Given the description of an element on the screen output the (x, y) to click on. 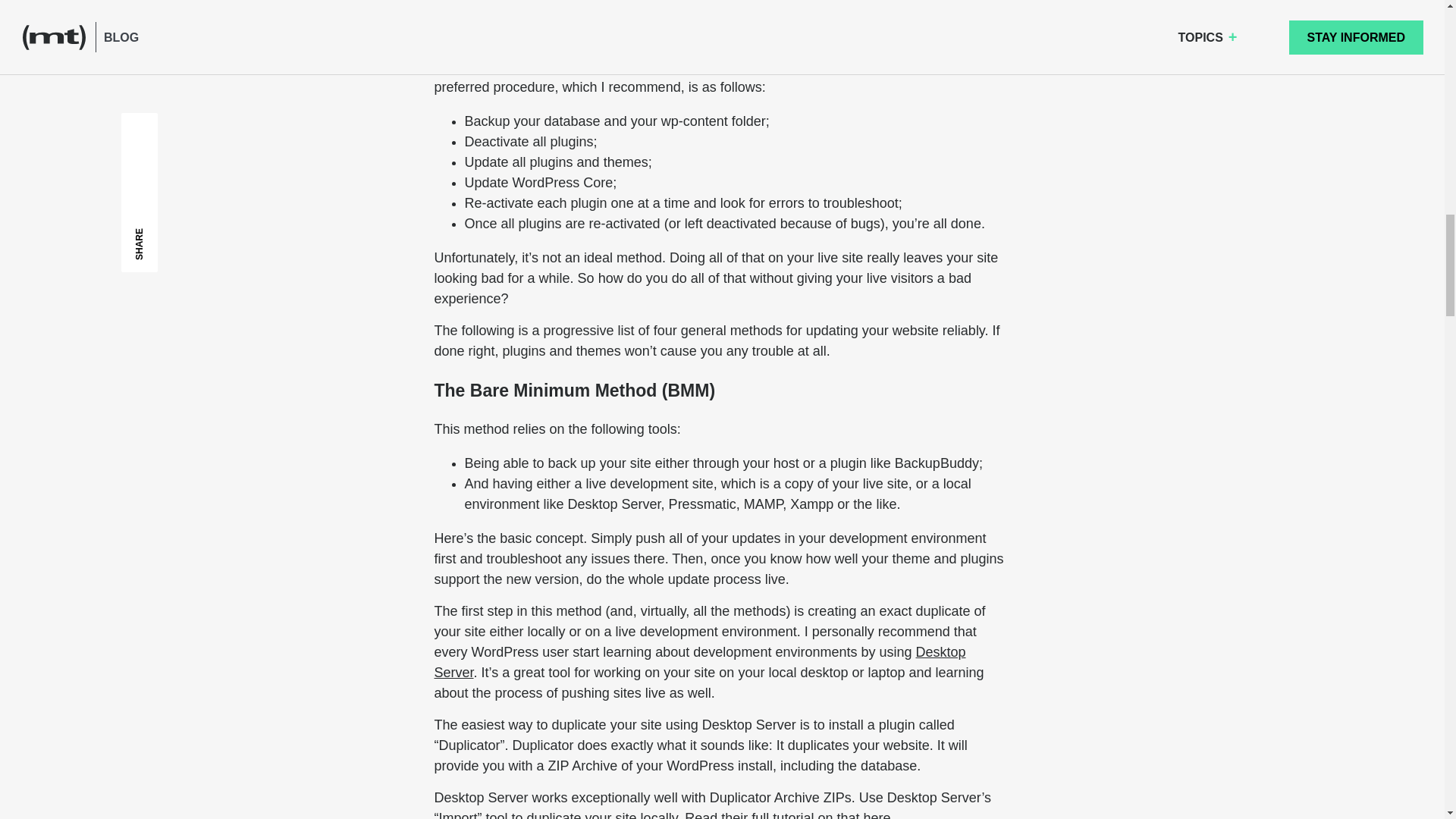
Desktop Server (699, 662)
full tutorial on that here (820, 814)
